Given the description of an element on the screen output the (x, y) to click on. 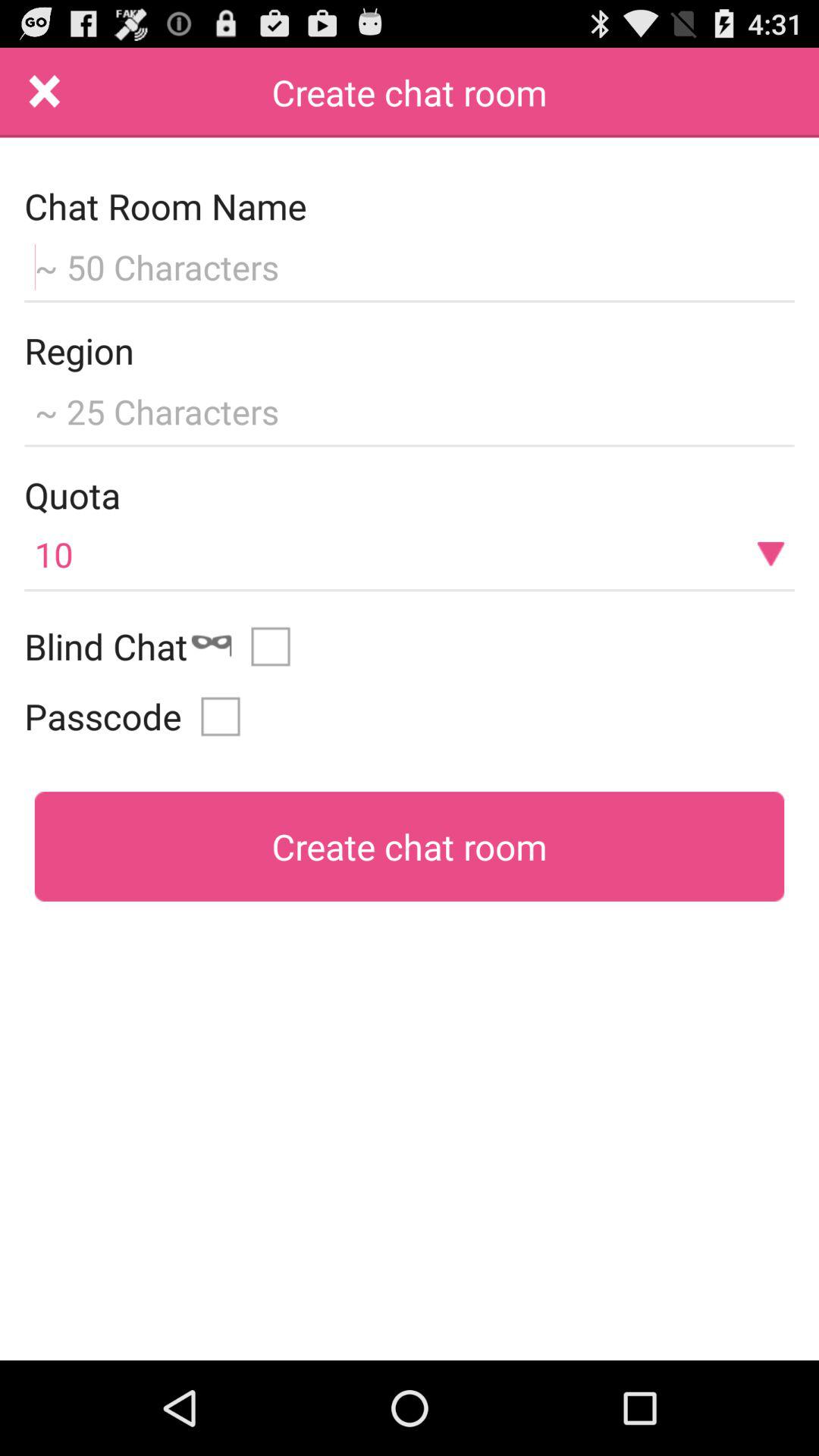
click icon to the left of create chat room icon (44, 92)
